Given the description of an element on the screen output the (x, y) to click on. 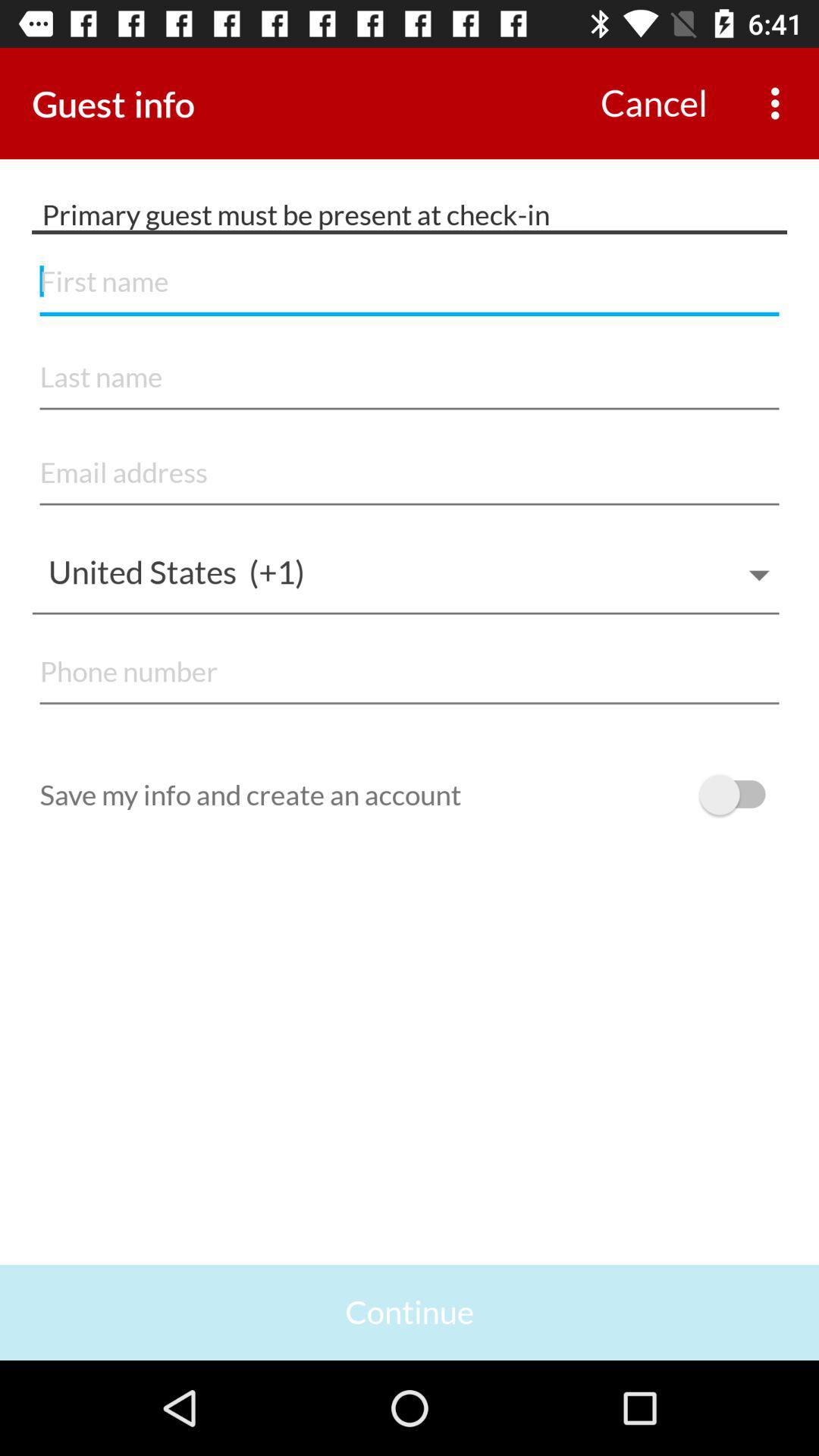
go to create id (409, 377)
